Given the description of an element on the screen output the (x, y) to click on. 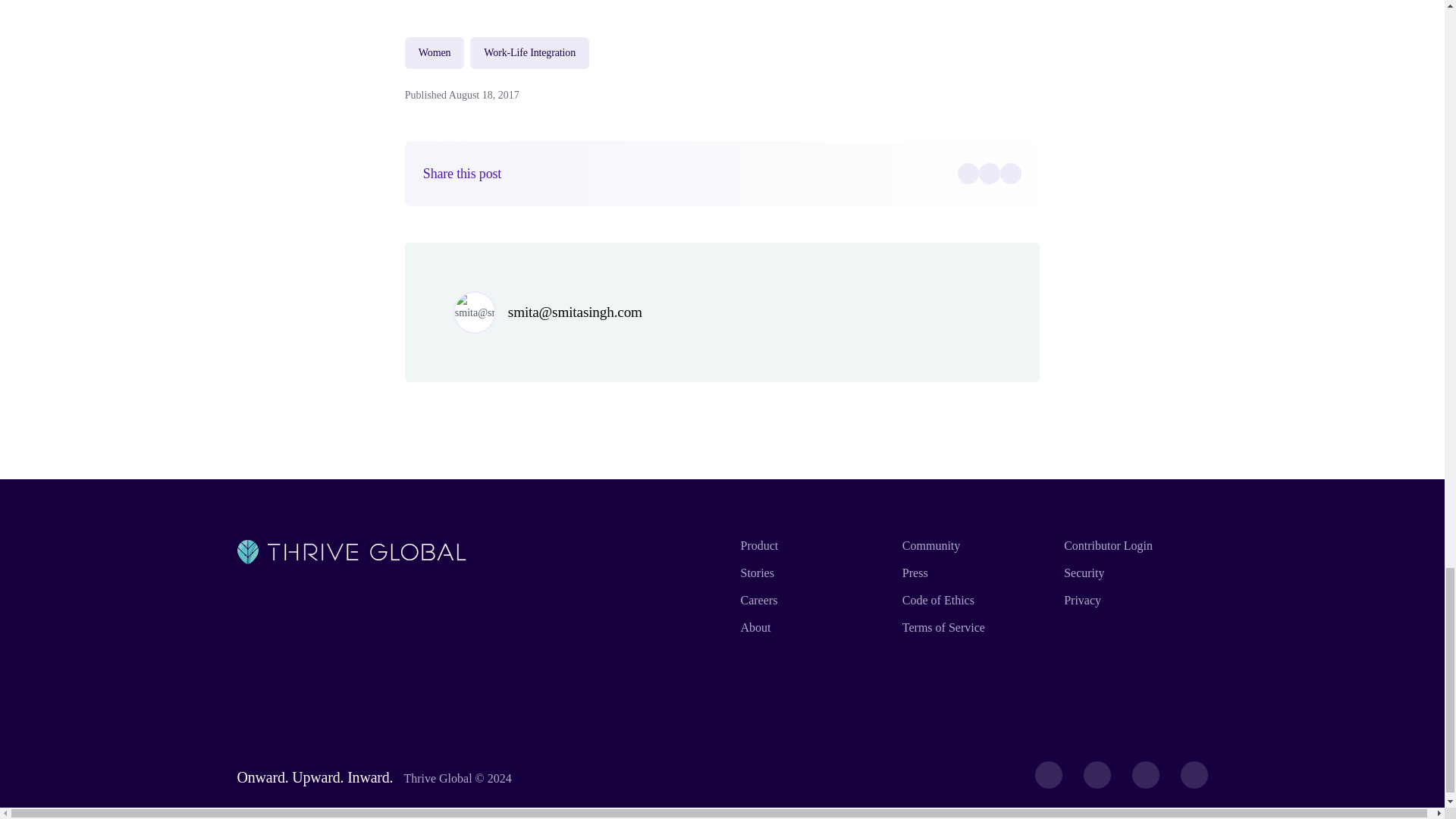
LinkedIn (1011, 173)
Facebook (968, 173)
Twitter (989, 173)
